Given the description of an element on the screen output the (x, y) to click on. 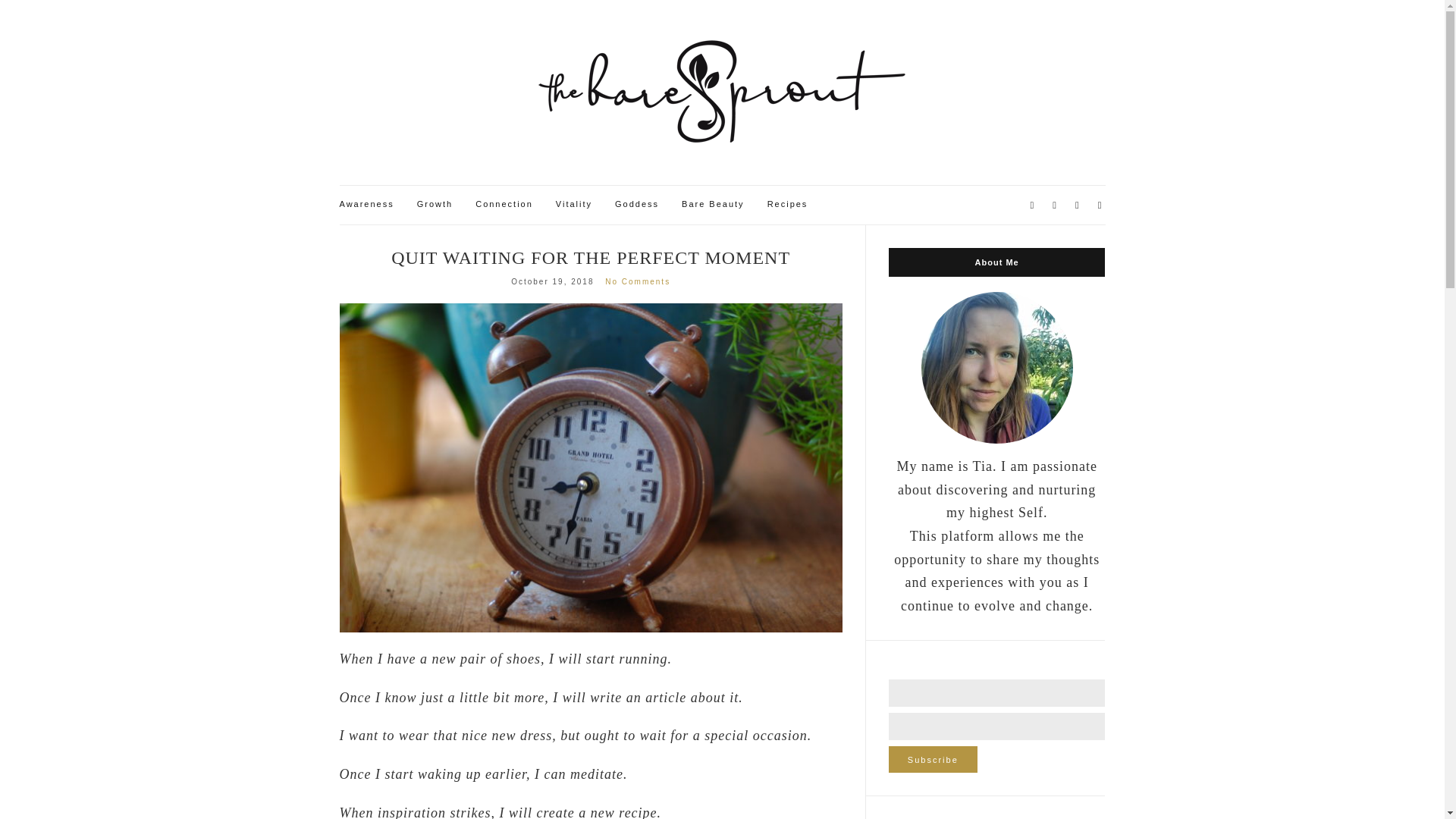
Connection (504, 204)
Subscribe (932, 759)
Bare Beauty (712, 204)
Recipes (787, 204)
No Comments (637, 281)
Awareness (366, 204)
Vitality (574, 204)
Goddess (636, 204)
Growth (434, 204)
Subscribe (932, 759)
